Given the description of an element on the screen output the (x, y) to click on. 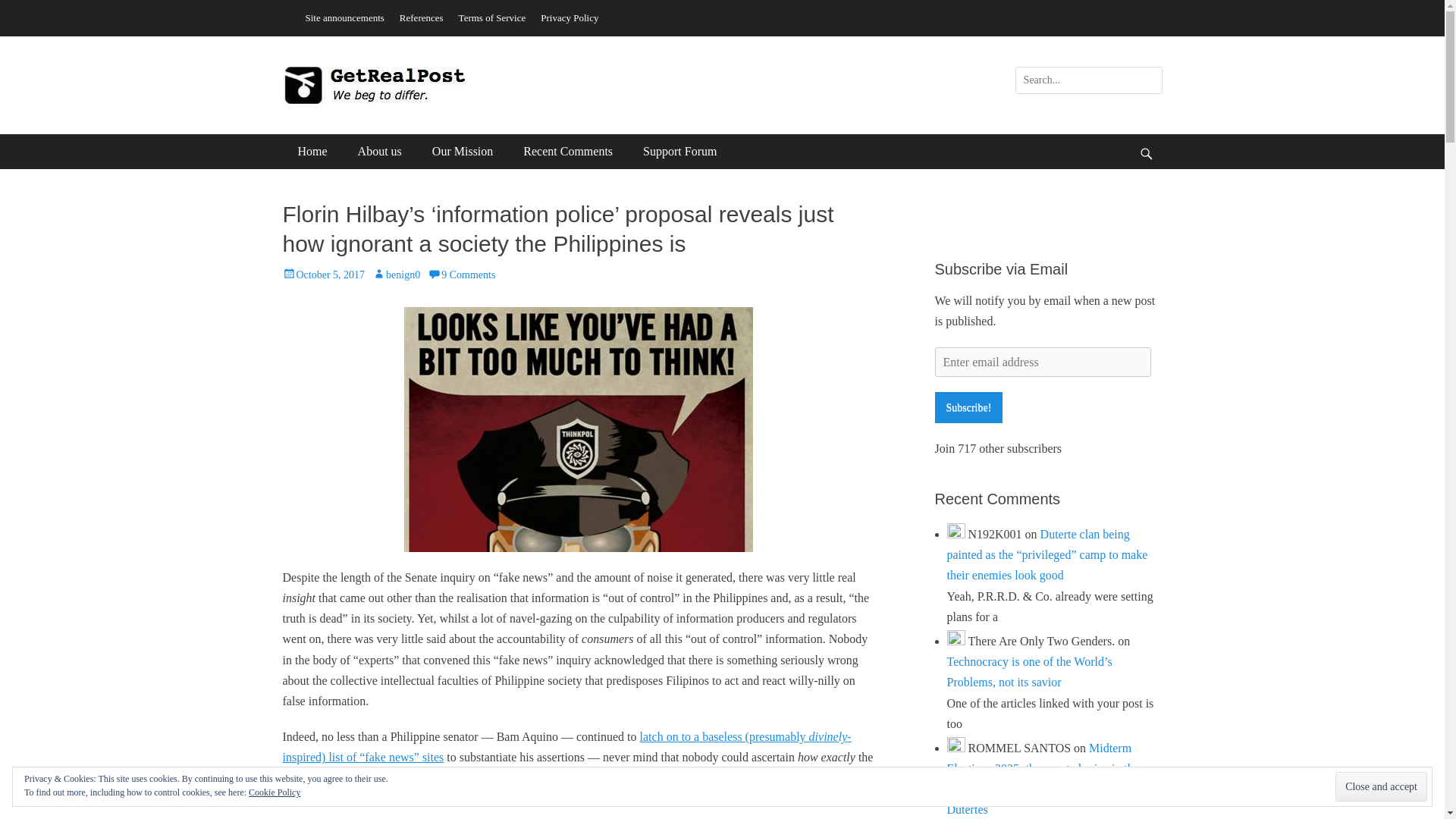
References (421, 17)
Close and accept (1380, 786)
Home (312, 151)
Search (22, 9)
Privacy Policy (568, 17)
Terms of Service (492, 17)
Site announcements (344, 17)
Search for: (1087, 80)
Support Forum (679, 151)
9 Comments (461, 274)
